Given the description of an element on the screen output the (x, y) to click on. 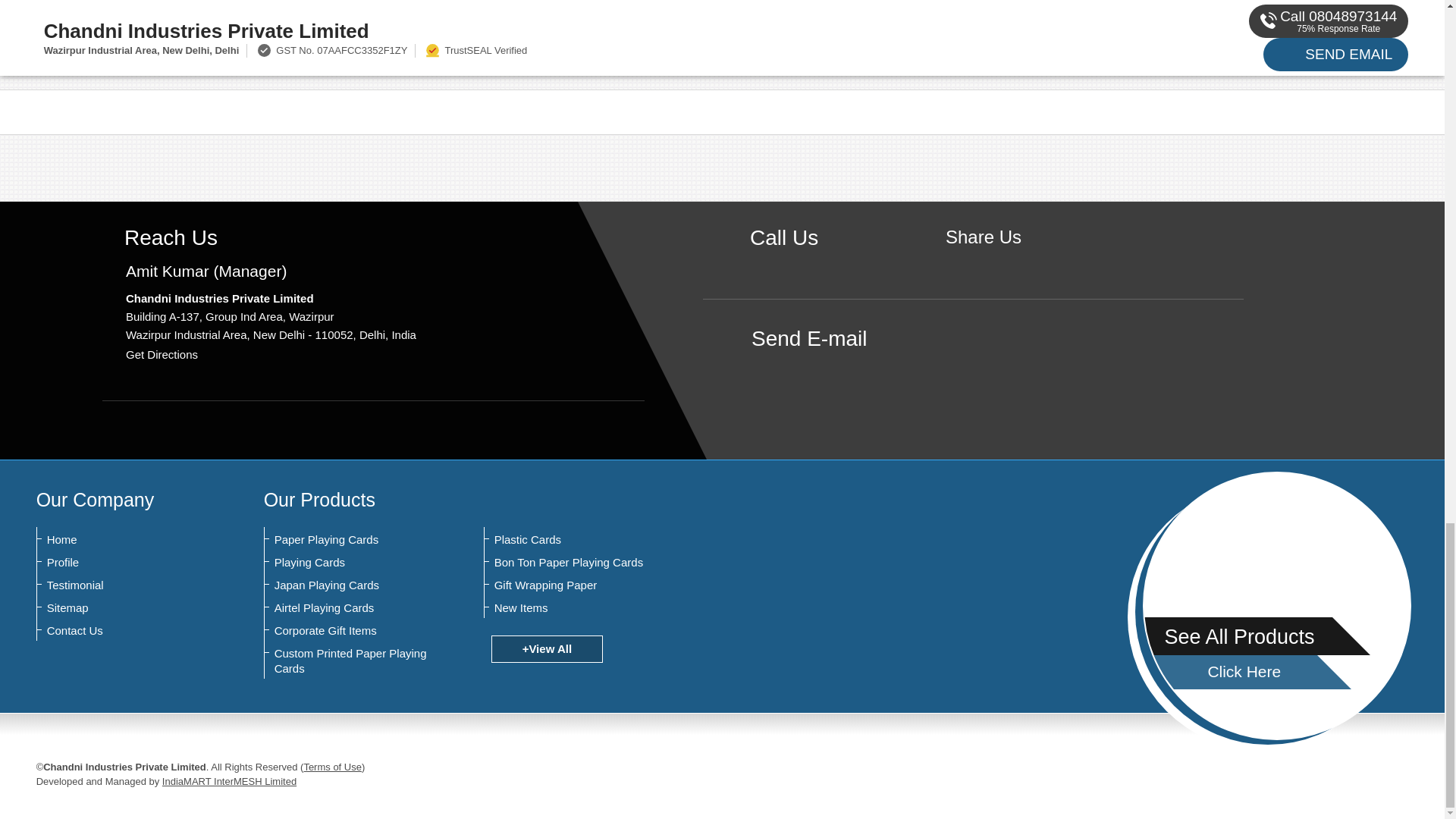
Profile (121, 562)
Paper Playing Cards (348, 539)
Home (121, 539)
LinkedIn (1029, 262)
Facebook (983, 262)
Playing Cards (348, 562)
Our Products (319, 499)
Sitemap (121, 607)
Contact Us (121, 630)
Get Directions (161, 354)
Twitter (1006, 262)
Testimonial (121, 585)
